Given the description of an element on the screen output the (x, y) to click on. 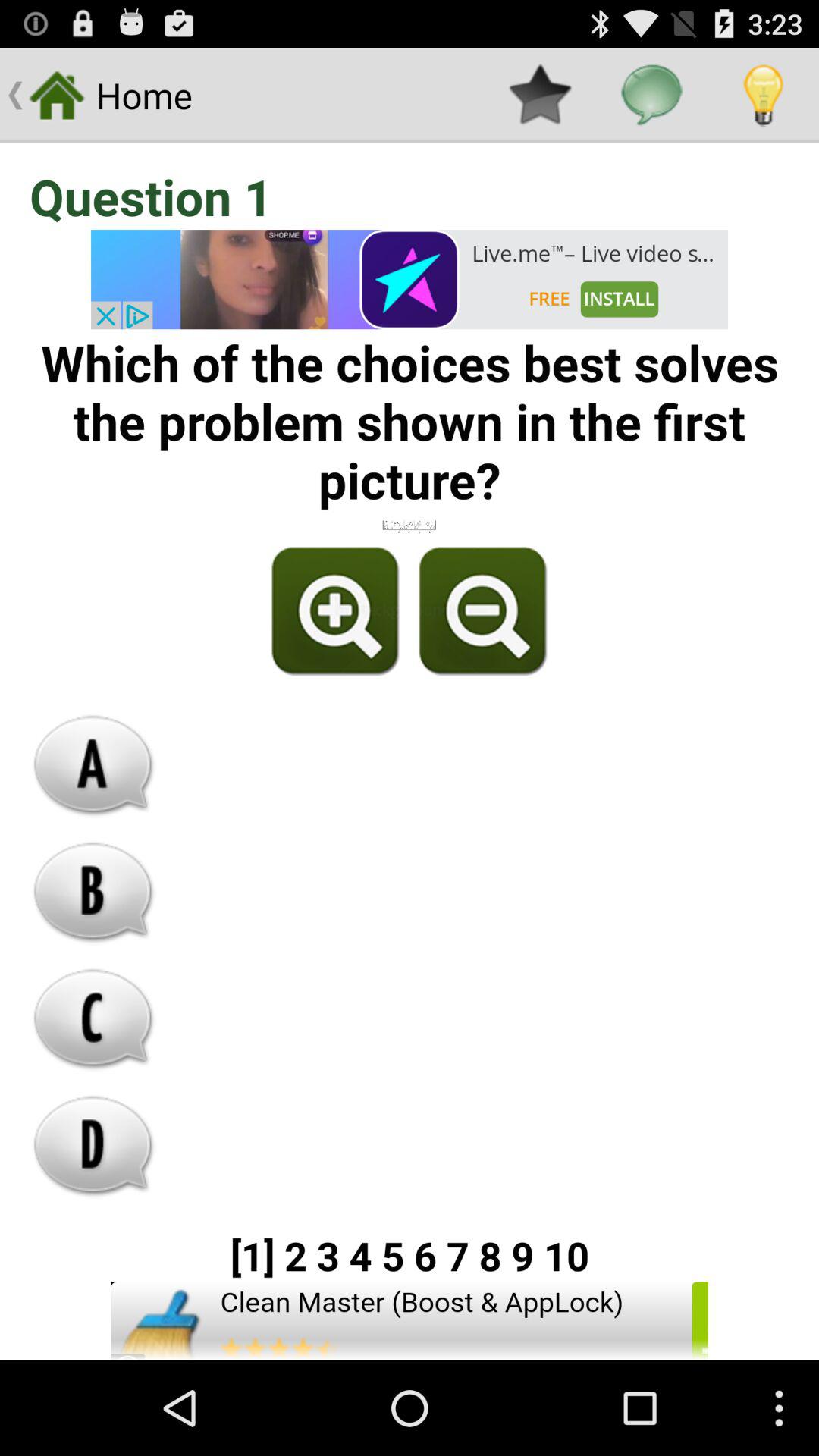
go to advertisement (409, 279)
